Given the description of an element on the screen output the (x, y) to click on. 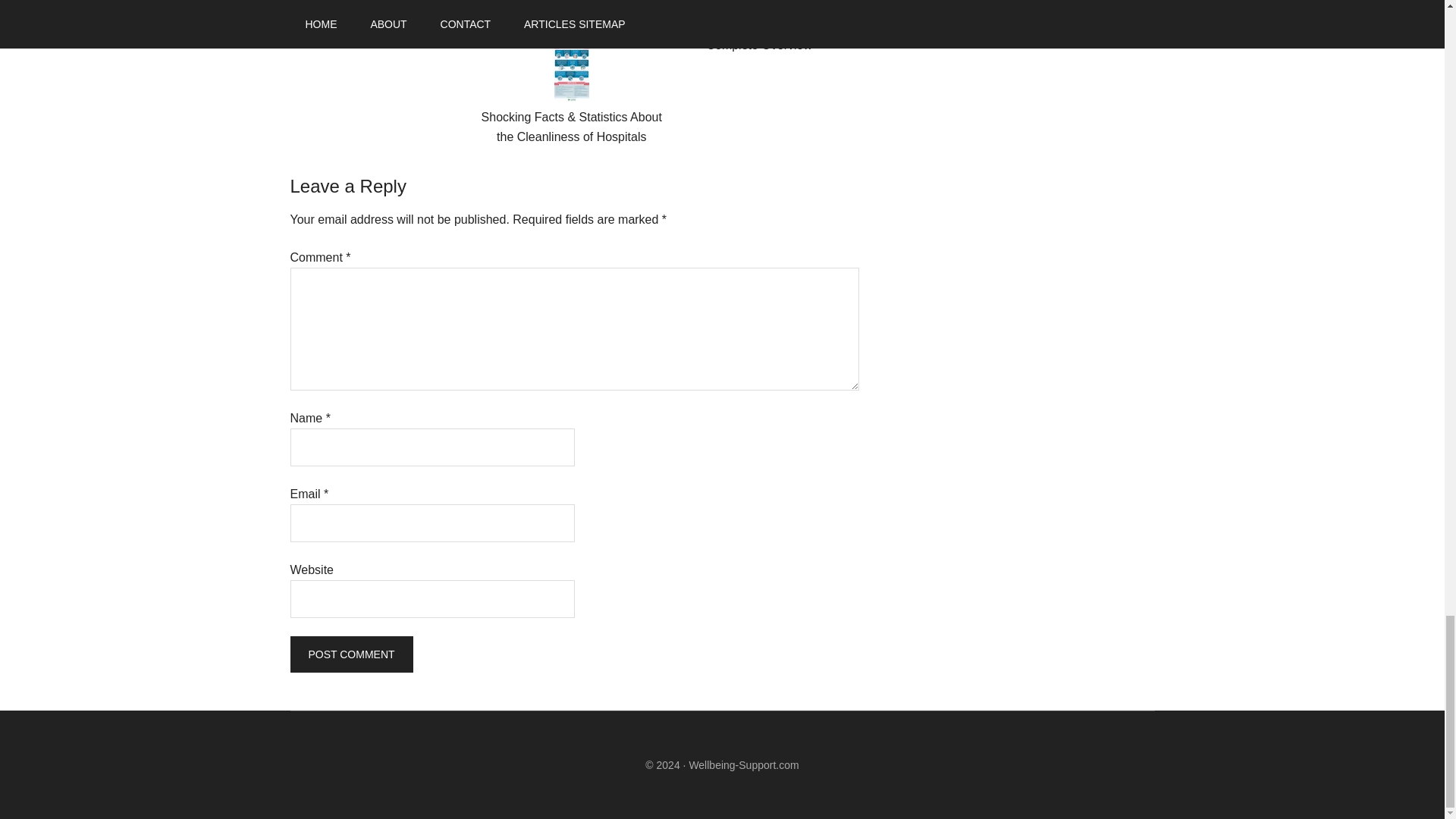
Post Comment (350, 654)
Post Comment (350, 654)
